Given the description of an element on the screen output the (x, y) to click on. 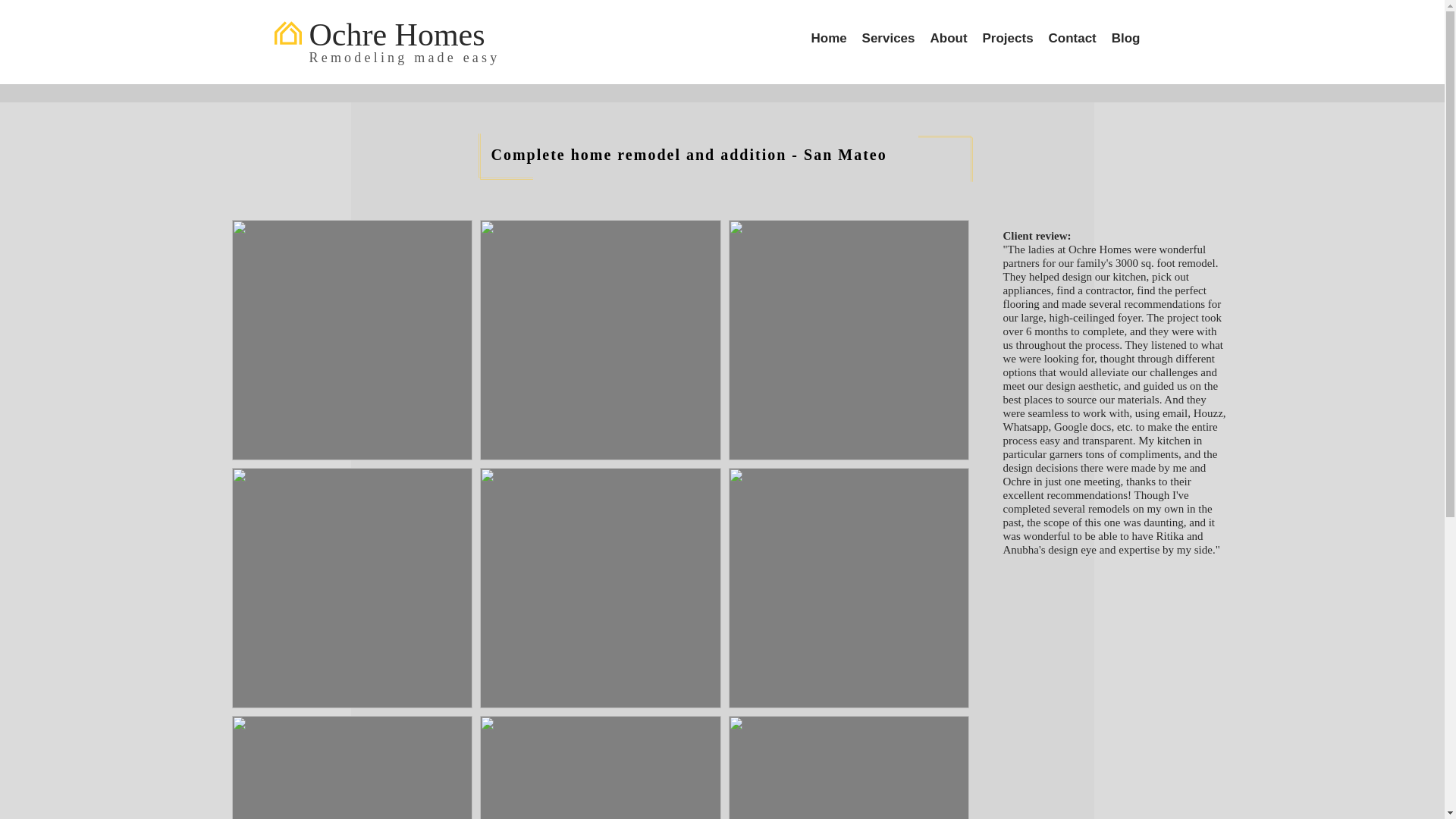
Services (887, 37)
Ochre Homes (396, 34)
Client review: (1036, 235)
Remodeling made easy (404, 57)
Contact (1072, 37)
About (947, 37)
Blog (1125, 37)
Projects (1008, 37)
Home (828, 37)
